Given the description of an element on the screen output the (x, y) to click on. 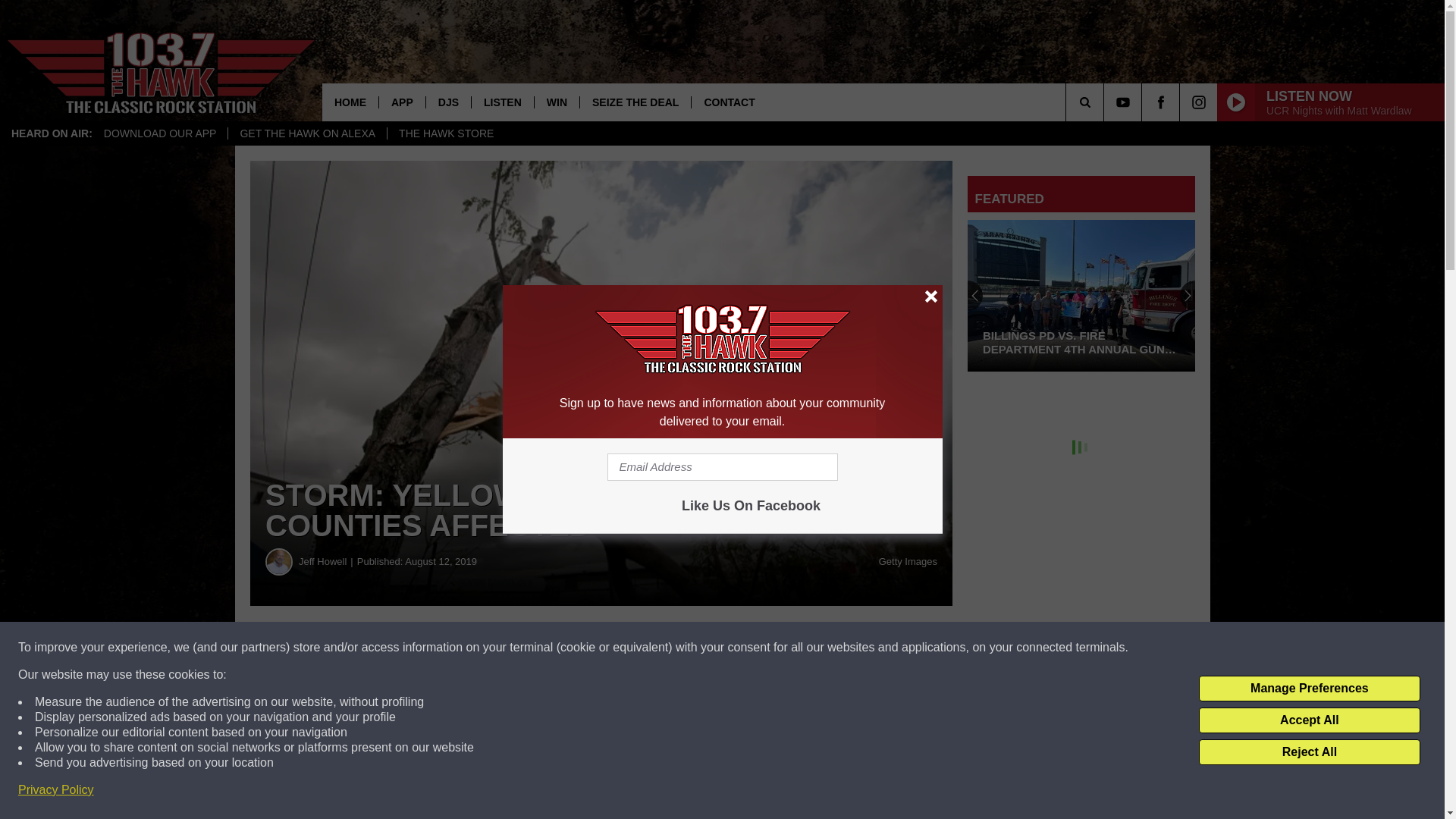
THE HAWK STORE (446, 133)
Accept All (1309, 720)
HOME (349, 102)
Manage Preferences (1309, 688)
DOWNLOAD OUR APP (160, 133)
Email Address (722, 466)
SEIZE THE DEAL (634, 102)
CONTACT (728, 102)
Privacy Policy (55, 789)
APP (401, 102)
WIN (556, 102)
SEARCH (1106, 102)
Reject All (1309, 751)
SEARCH (1106, 102)
GET THE HAWK ON ALEXA (307, 133)
